Given the description of an element on the screen output the (x, y) to click on. 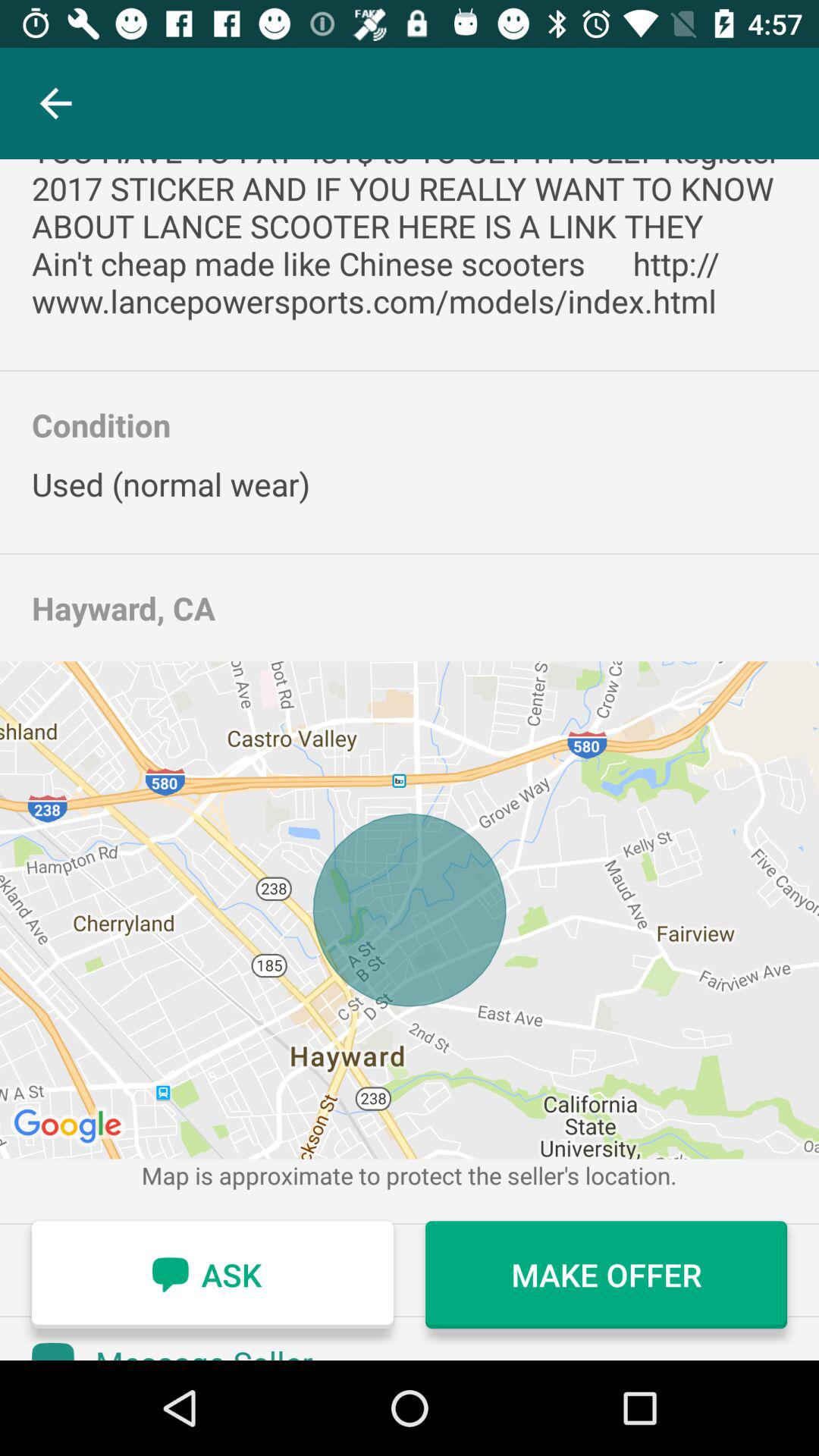
choose the item below the hayward, ca (409, 910)
